Given the description of an element on the screen output the (x, y) to click on. 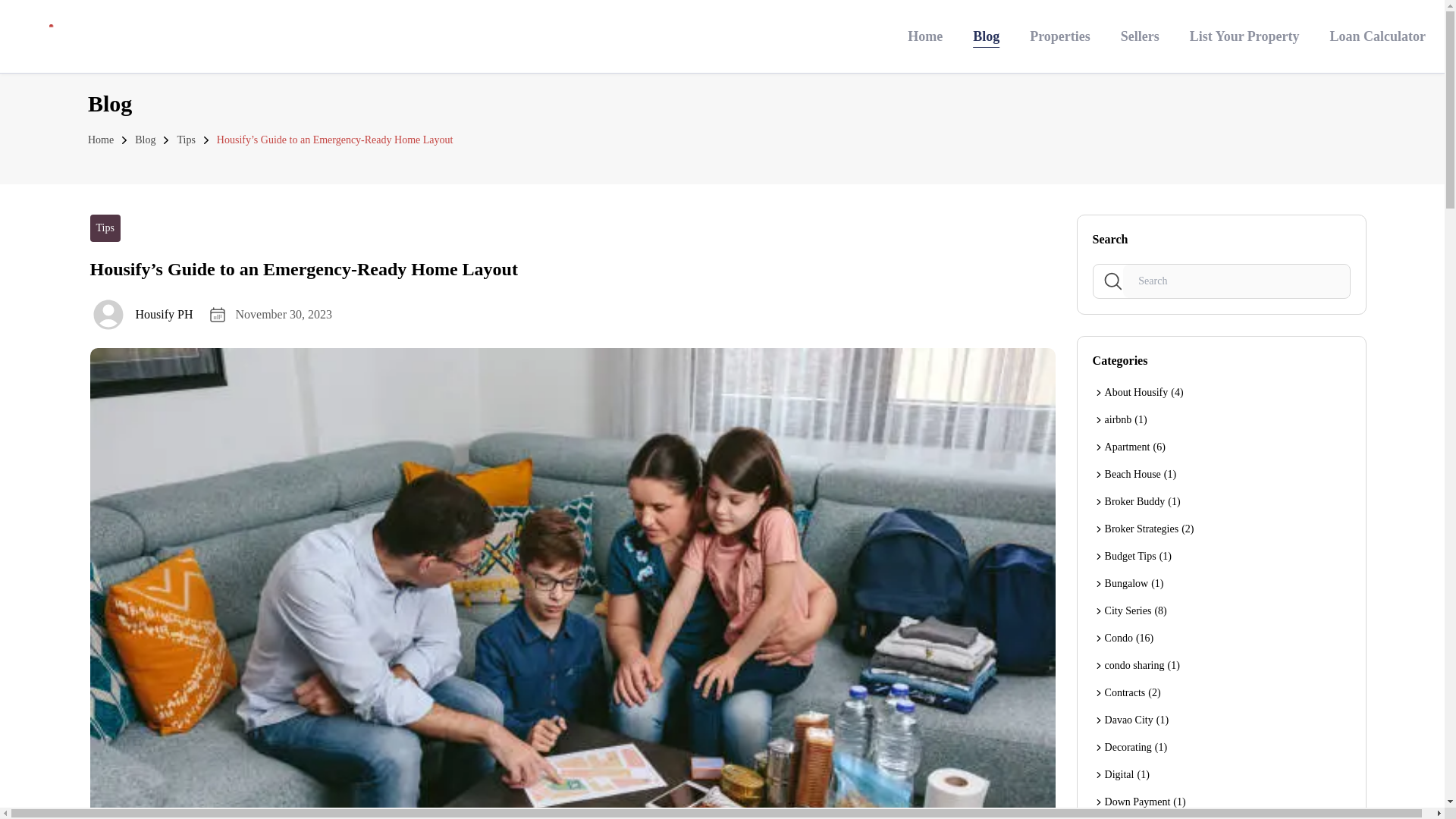
Blog (985, 35)
Home (100, 140)
Loan Calculator (1377, 35)
Sellers (1139, 35)
Blog (145, 140)
List Your Property (1244, 35)
Home (924, 35)
Properties (1059, 35)
Tips (185, 140)
